Given the description of an element on the screen output the (x, y) to click on. 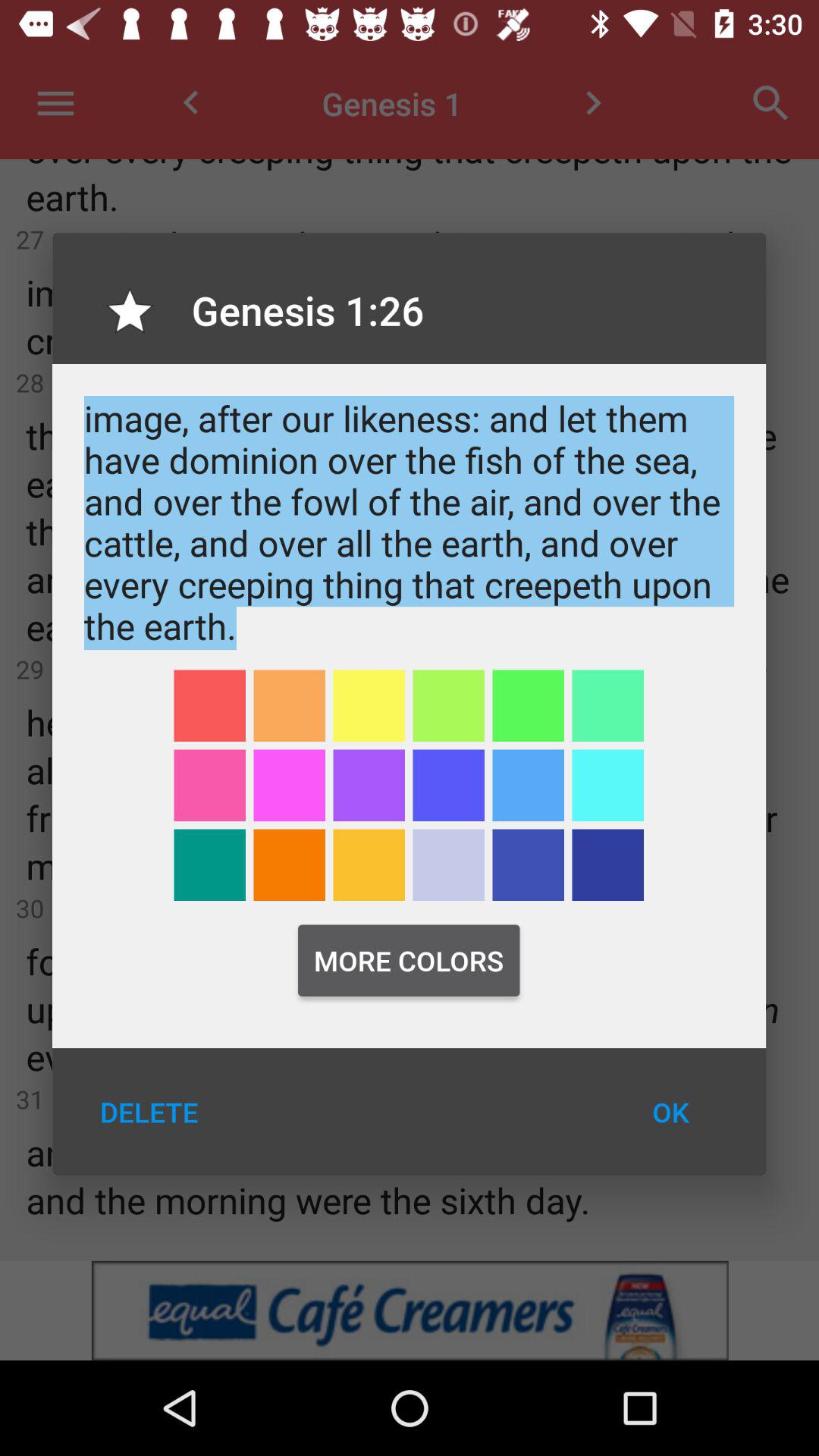
select orange (289, 864)
